Given the description of an element on the screen output the (x, y) to click on. 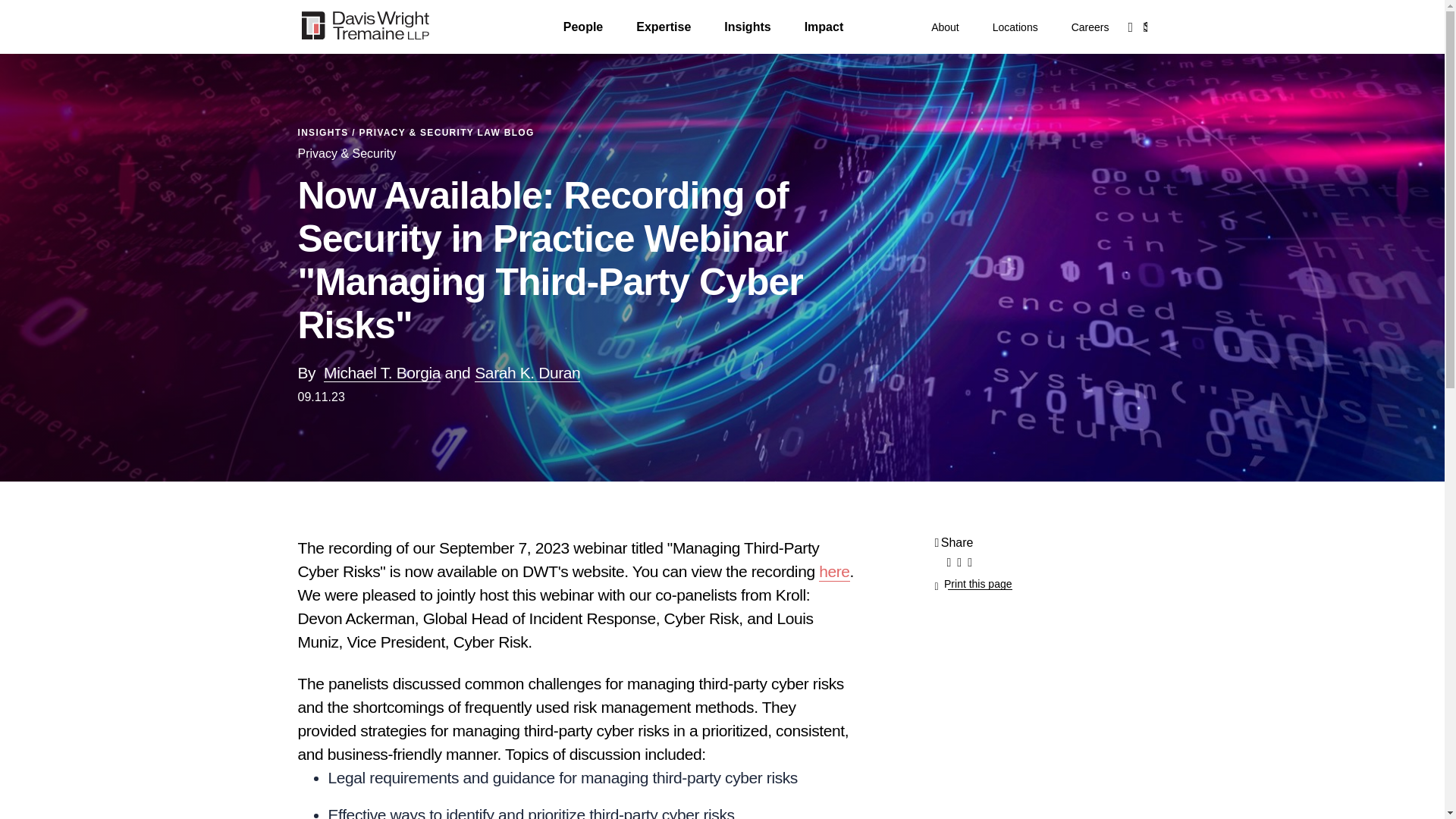
Insights (746, 27)
Locations (1015, 27)
Careers (1090, 27)
Impact (824, 27)
Sarah K. Duran (526, 372)
Print this page (972, 583)
here (833, 571)
Expertise (663, 27)
Michael T. Borgia (382, 372)
About (945, 27)
People (582, 27)
